Given the description of an element on the screen output the (x, y) to click on. 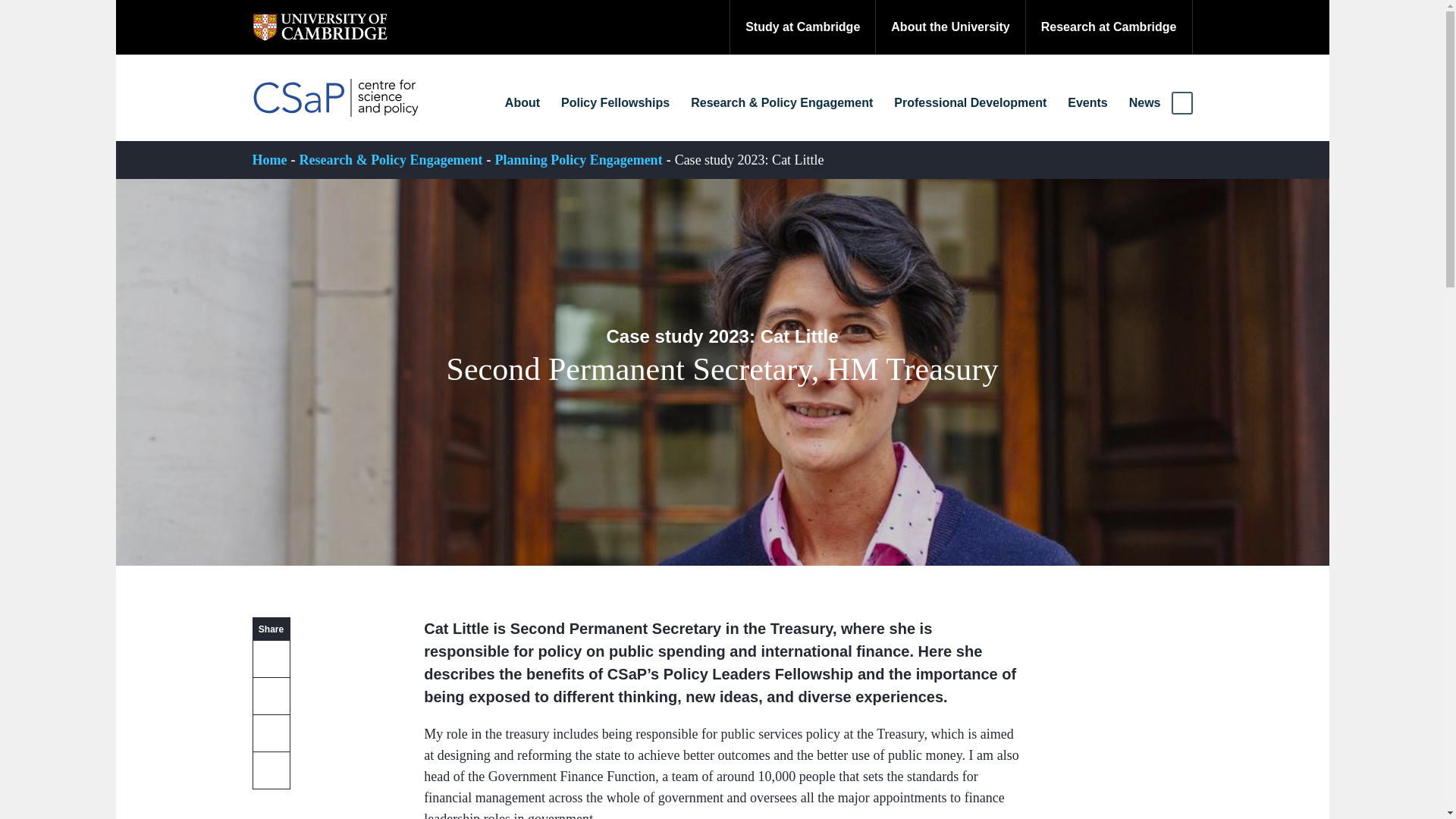
About the University (950, 27)
Professional Development (970, 102)
Events (1086, 102)
Research at Cambridge (1108, 27)
Policy Fellowships (614, 102)
Study at Cambridge (802, 27)
About (522, 102)
